Given the description of an element on the screen output the (x, y) to click on. 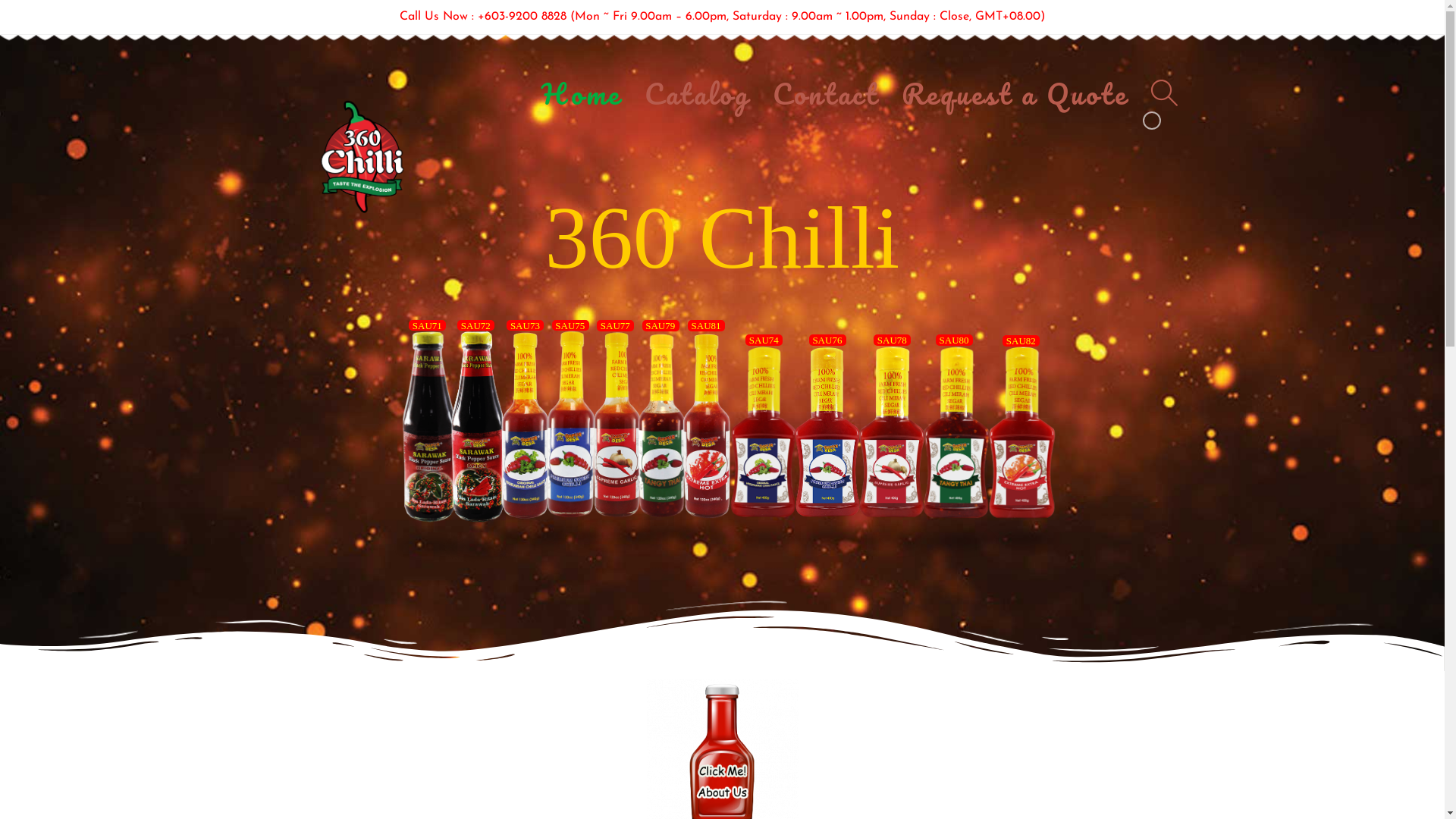
Contact Element type: text (825, 93)
Request a Quote Element type: text (1014, 93)
Home Element type: text (581, 93)
Catalog Element type: text (697, 93)
